Given the description of an element on the screen output the (x, y) to click on. 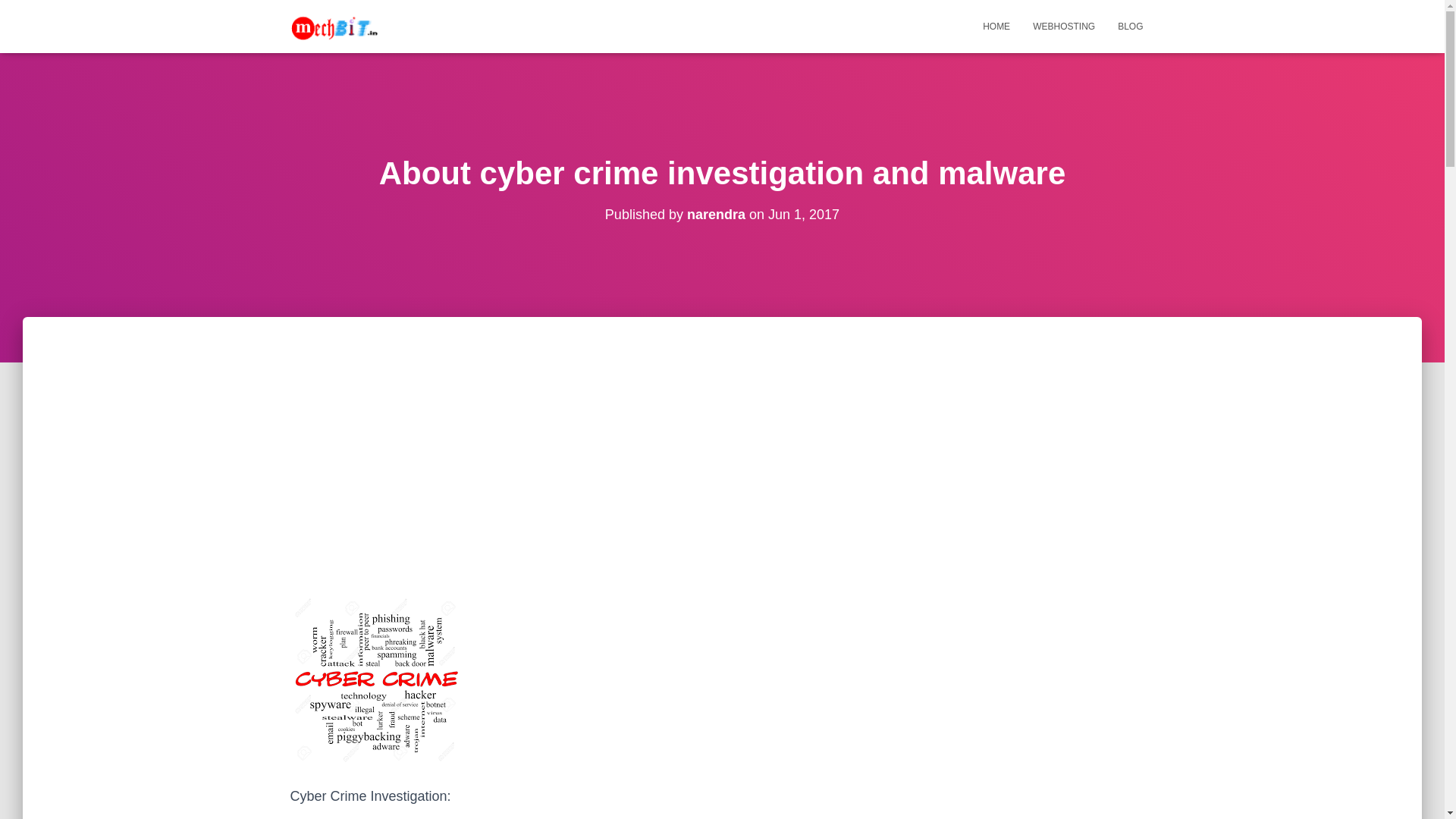
narendra (716, 214)
HOME (996, 26)
Home (996, 26)
Mechbit.in (336, 26)
BLOG (1130, 26)
WEBHOSTING (1064, 26)
Blog (1130, 26)
Webhosting (1064, 26)
